Given the description of an element on the screen output the (x, y) to click on. 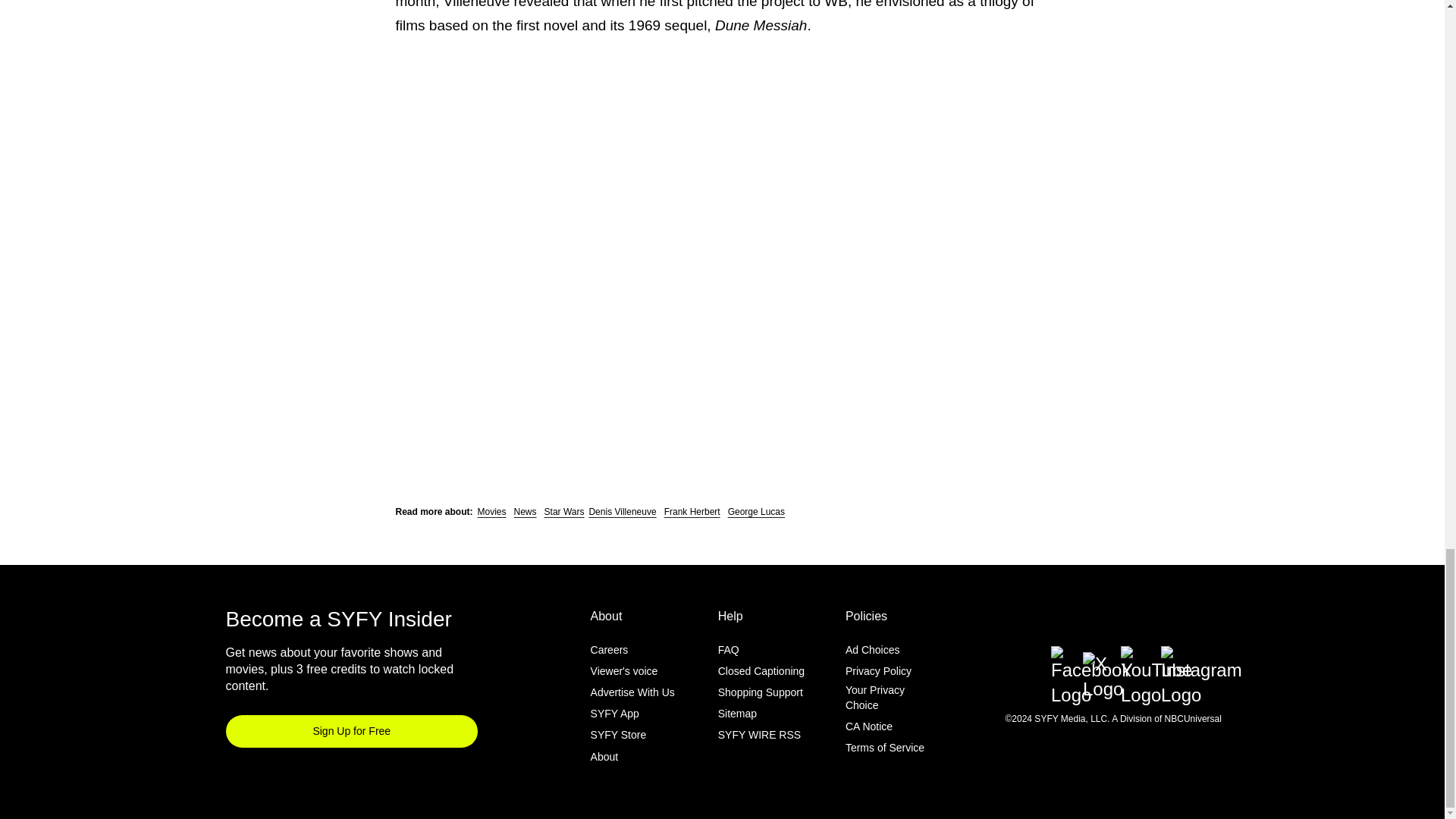
Advertise With Us (633, 692)
News (525, 511)
Denis Villeneuve (622, 511)
George Lucas (756, 511)
Frank Herbert (691, 511)
Movies (491, 511)
Star Wars (564, 511)
